Given the description of an element on the screen output the (x, y) to click on. 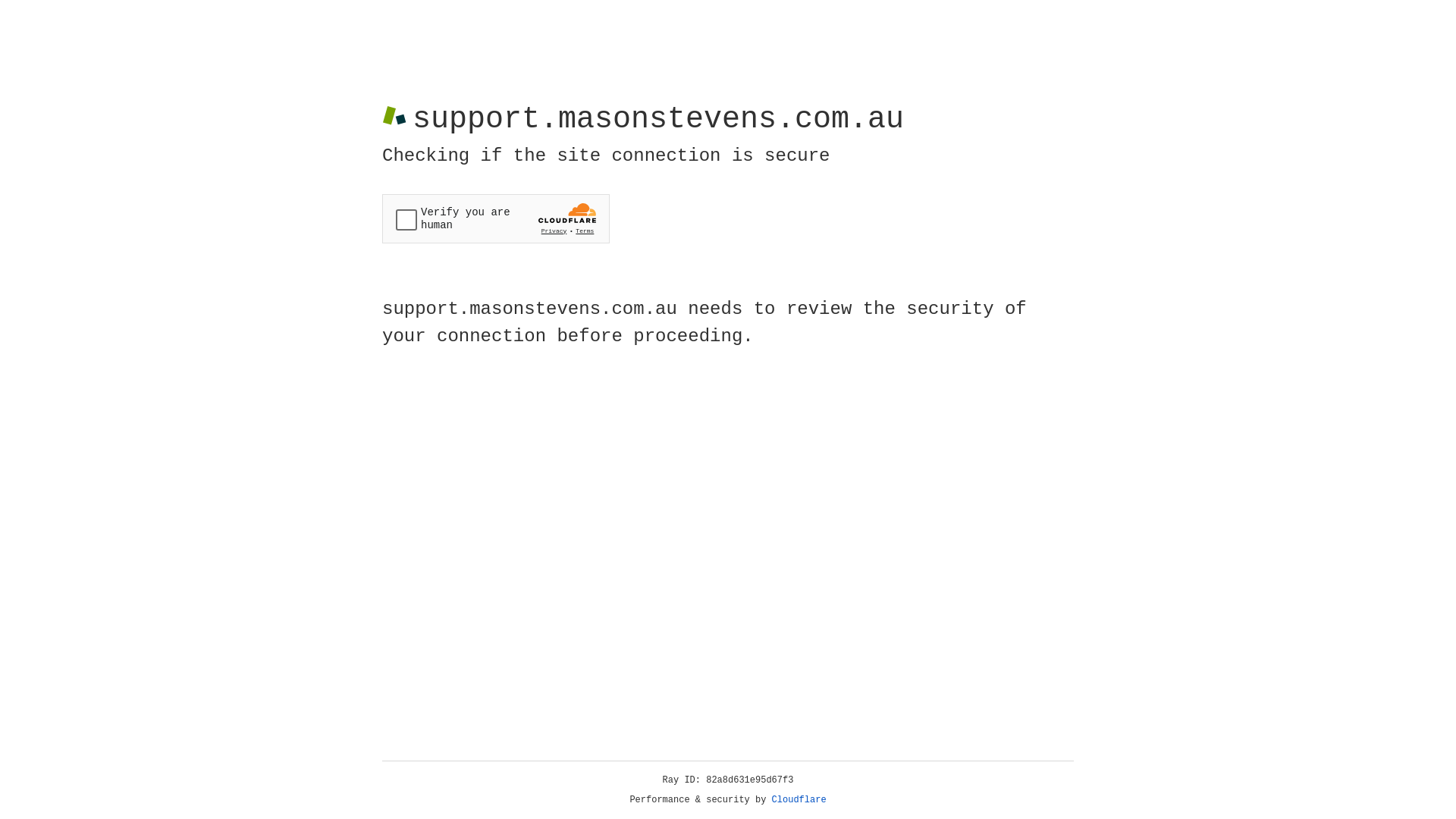
Widget containing a Cloudflare security challenge Element type: hover (495, 218)
Cloudflare Element type: text (798, 799)
